Given the description of an element on the screen output the (x, y) to click on. 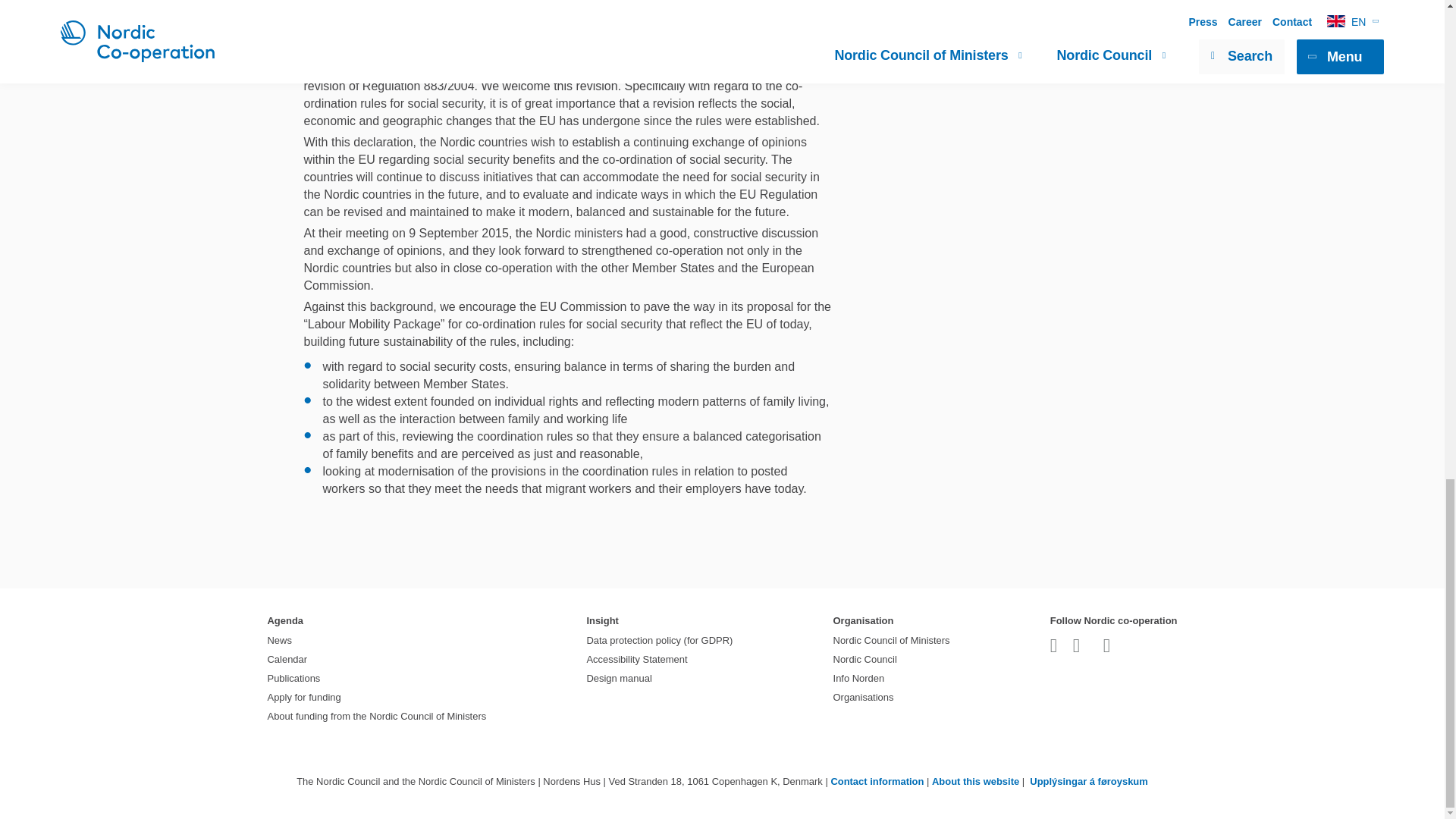
Contacts (876, 781)
About norden.org (975, 781)
